Given the description of an element on the screen output the (x, y) to click on. 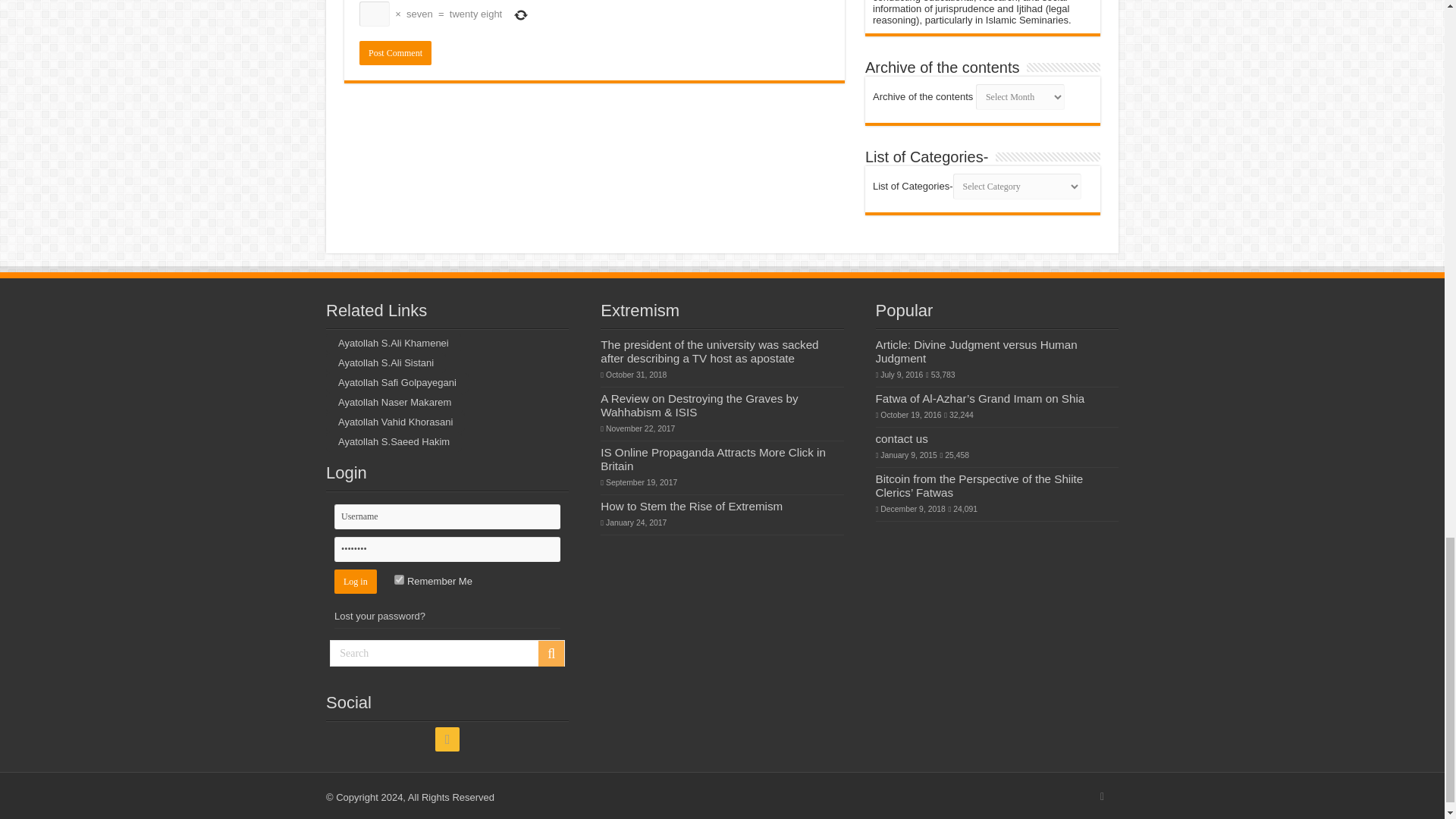
Password (447, 549)
forever (399, 579)
Username (447, 516)
Search (447, 652)
Log in (355, 581)
Post Comment (394, 52)
